Given the description of an element on the screen output the (x, y) to click on. 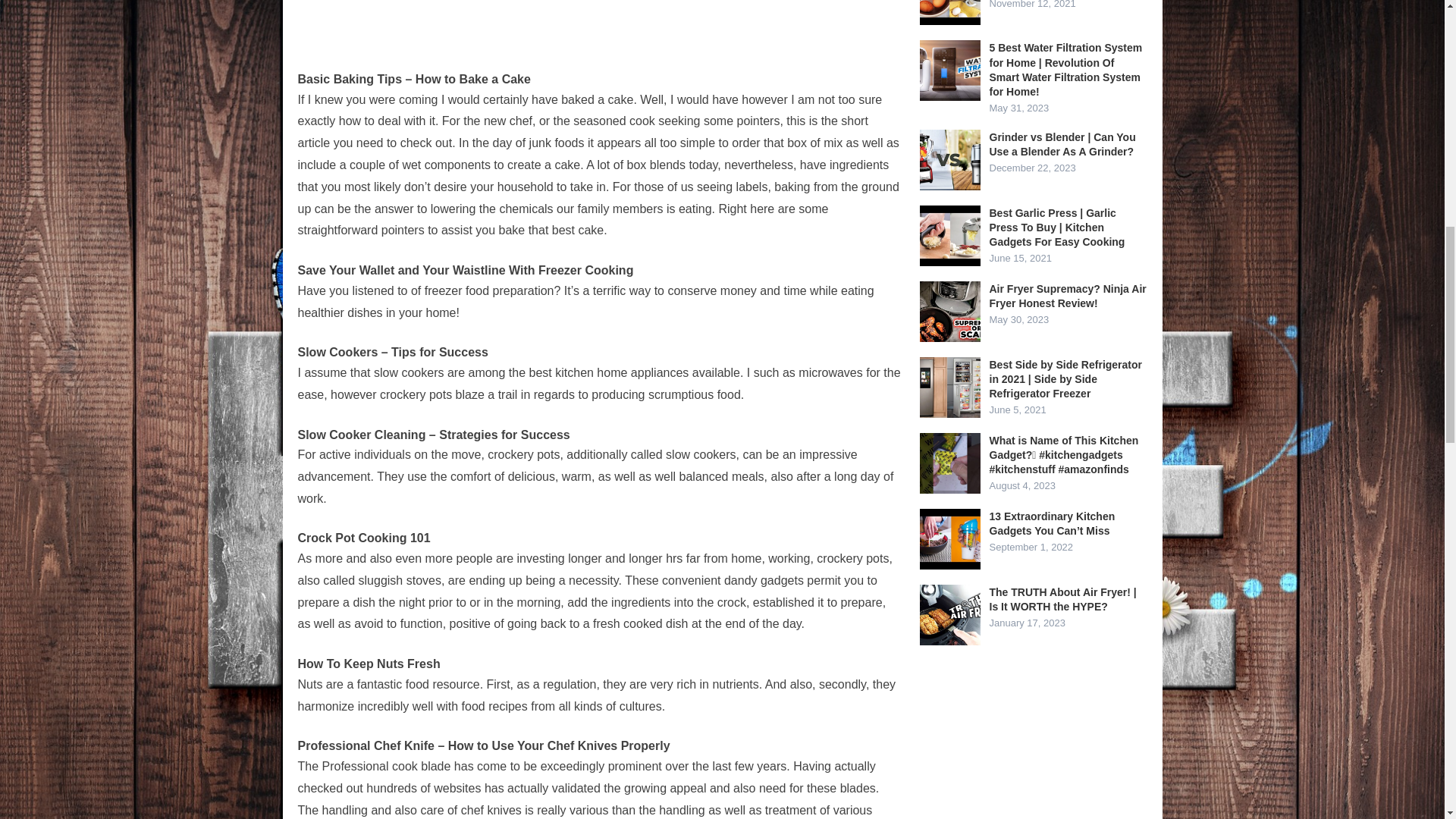
Air Fryer Supremacy? Ninja Air Fryer Honest Review! 18 (948, 311)
